Given the description of an element on the screen output the (x, y) to click on. 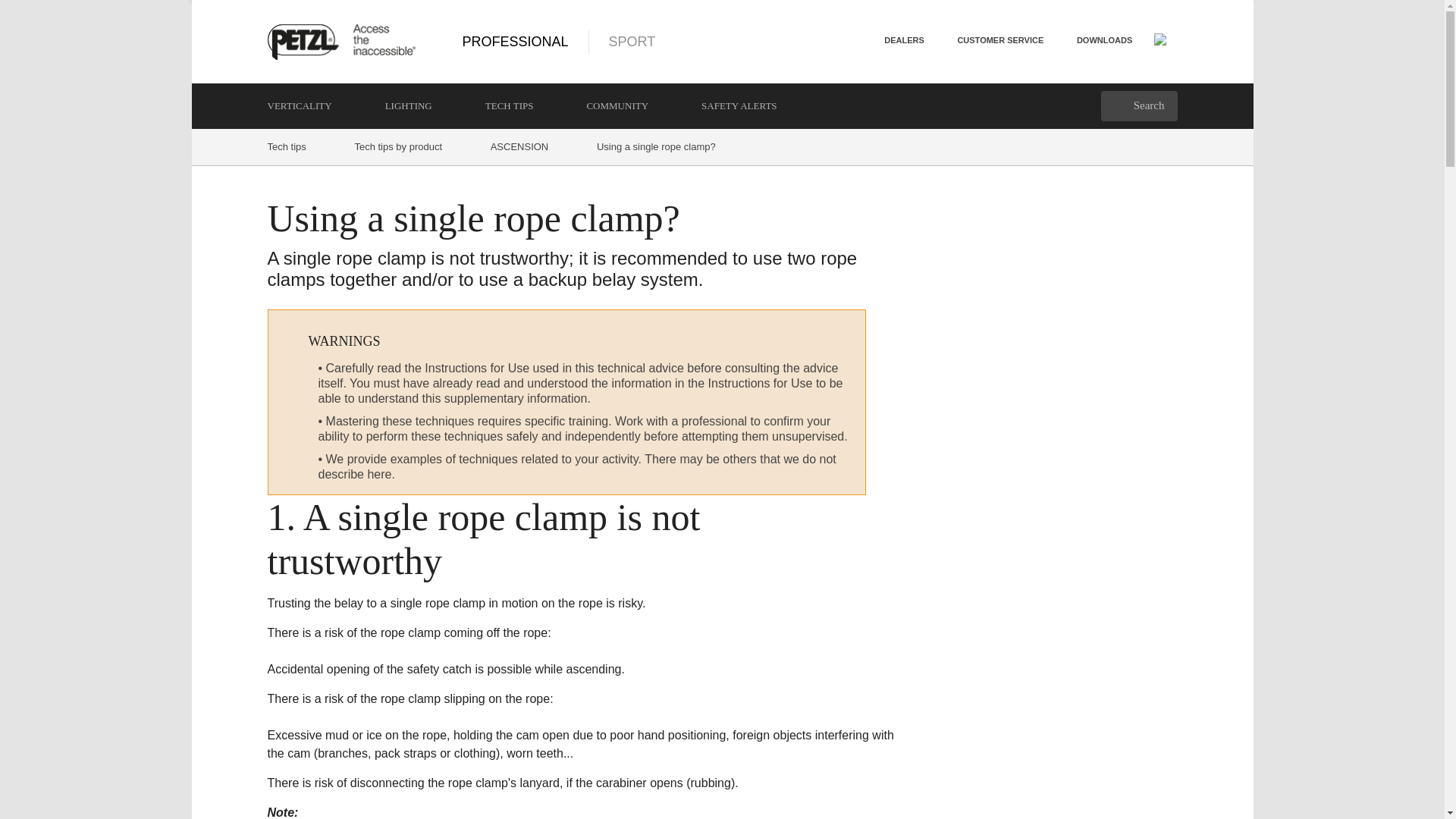
DEALERS (903, 39)
SPORT (612, 41)
PROFESSIONAL (516, 40)
DOWNLOADS (1104, 39)
CUSTOMER SERVICE (999, 39)
